Given the description of an element on the screen output the (x, y) to click on. 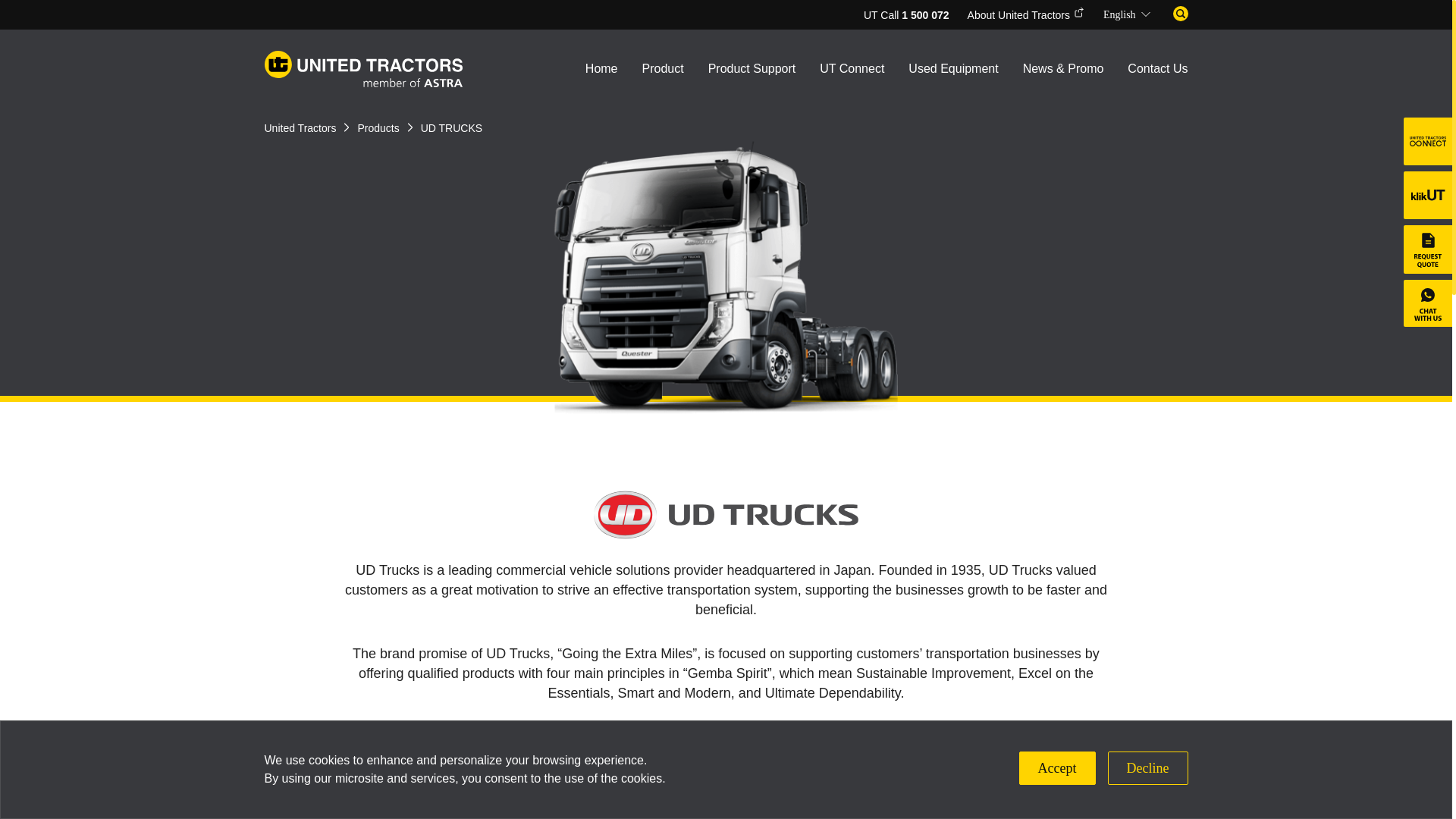
Product (663, 73)
Home (601, 73)
English (1128, 14)
English (1128, 14)
About United Tractors (1026, 15)
UT Call 1 500 072 (906, 15)
